Given the description of an element on the screen output the (x, y) to click on. 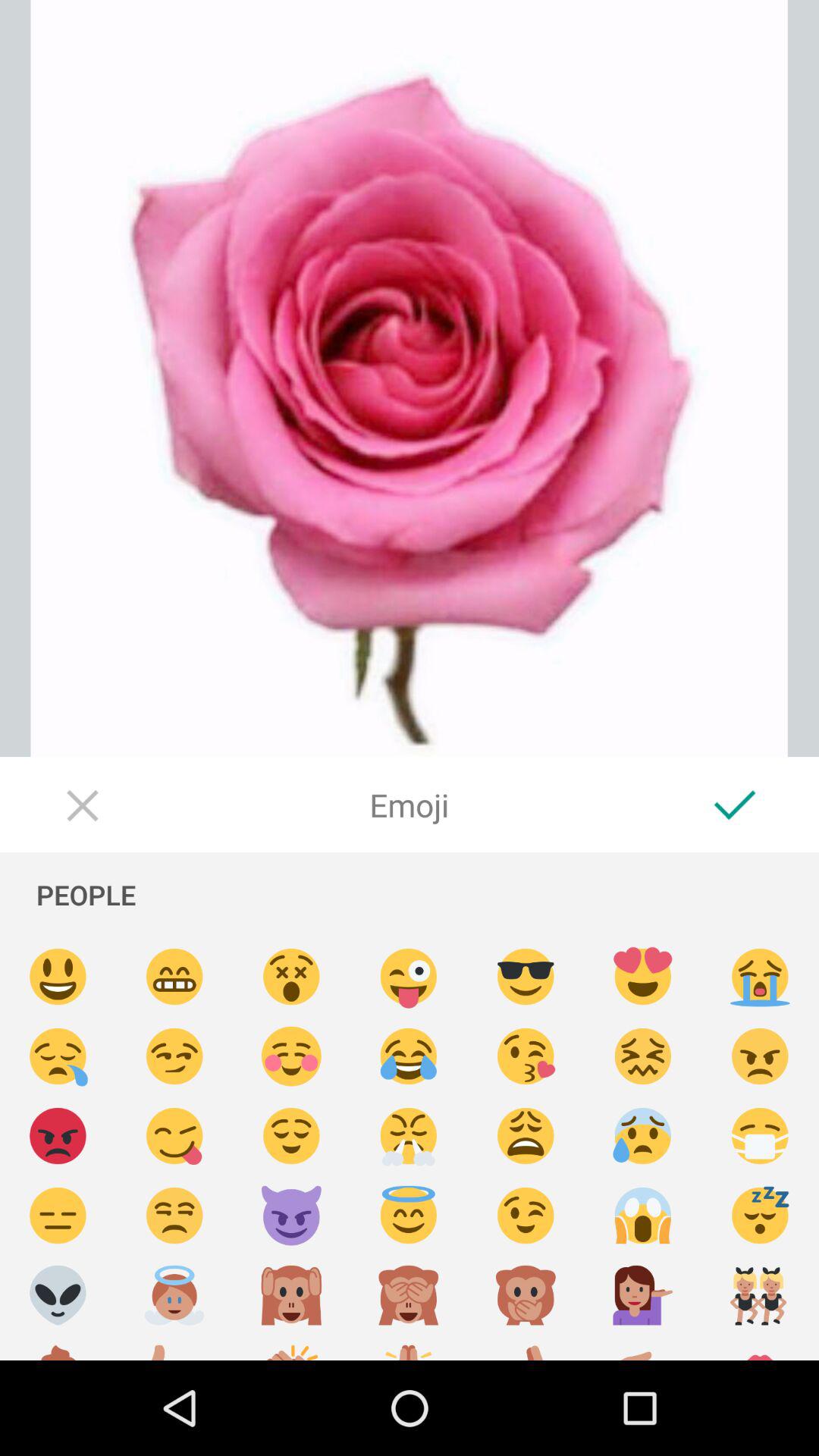
insert emoji (642, 976)
